Given the description of an element on the screen output the (x, y) to click on. 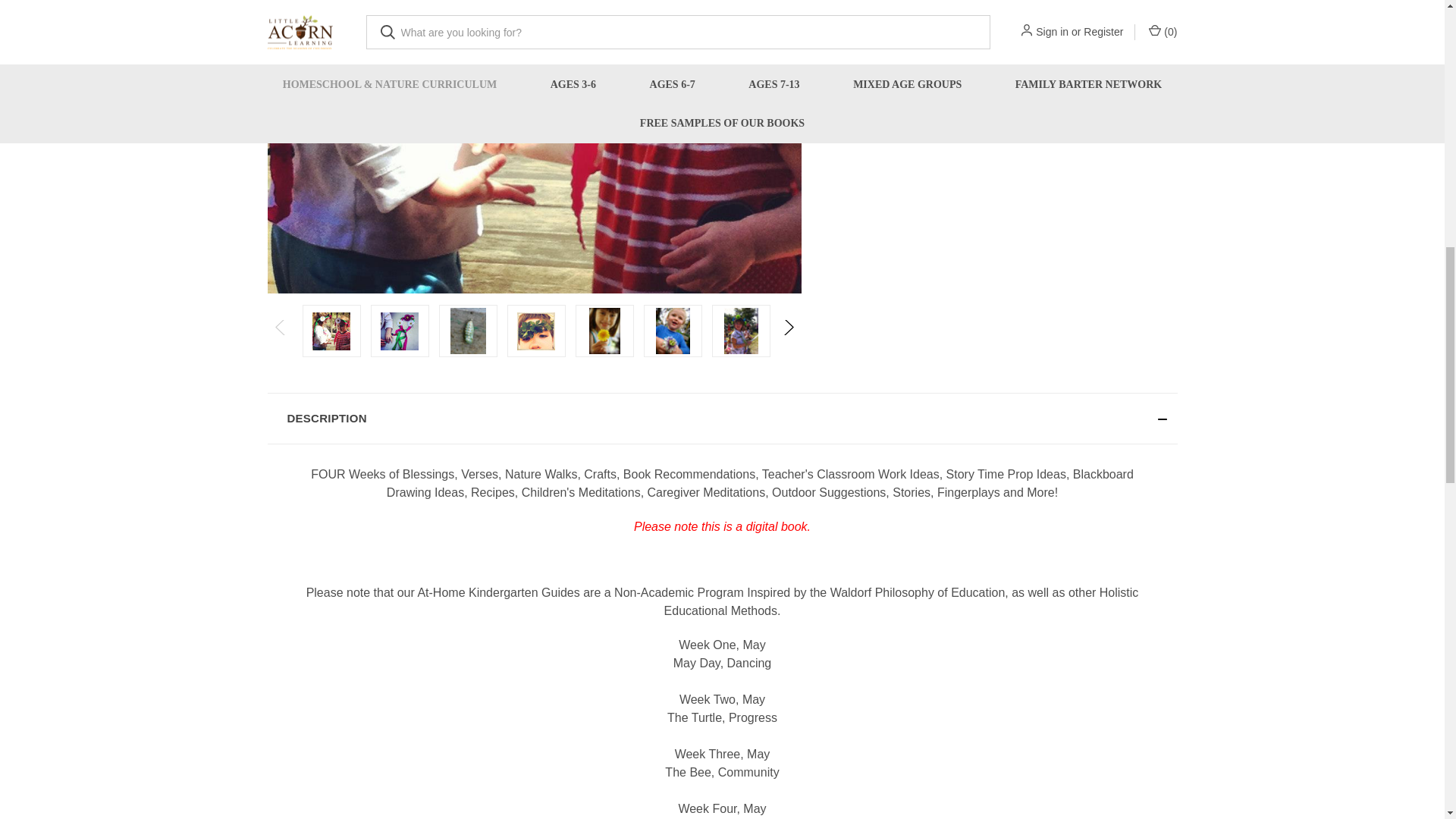
Debbie Mowles (467, 330)
Elke Vidler (672, 330)
Cheryl Bougie (741, 330)
Amber (535, 331)
Previous (280, 331)
Hallie Lindal (604, 330)
Add to Cart (890, 13)
